Given the description of an element on the screen output the (x, y) to click on. 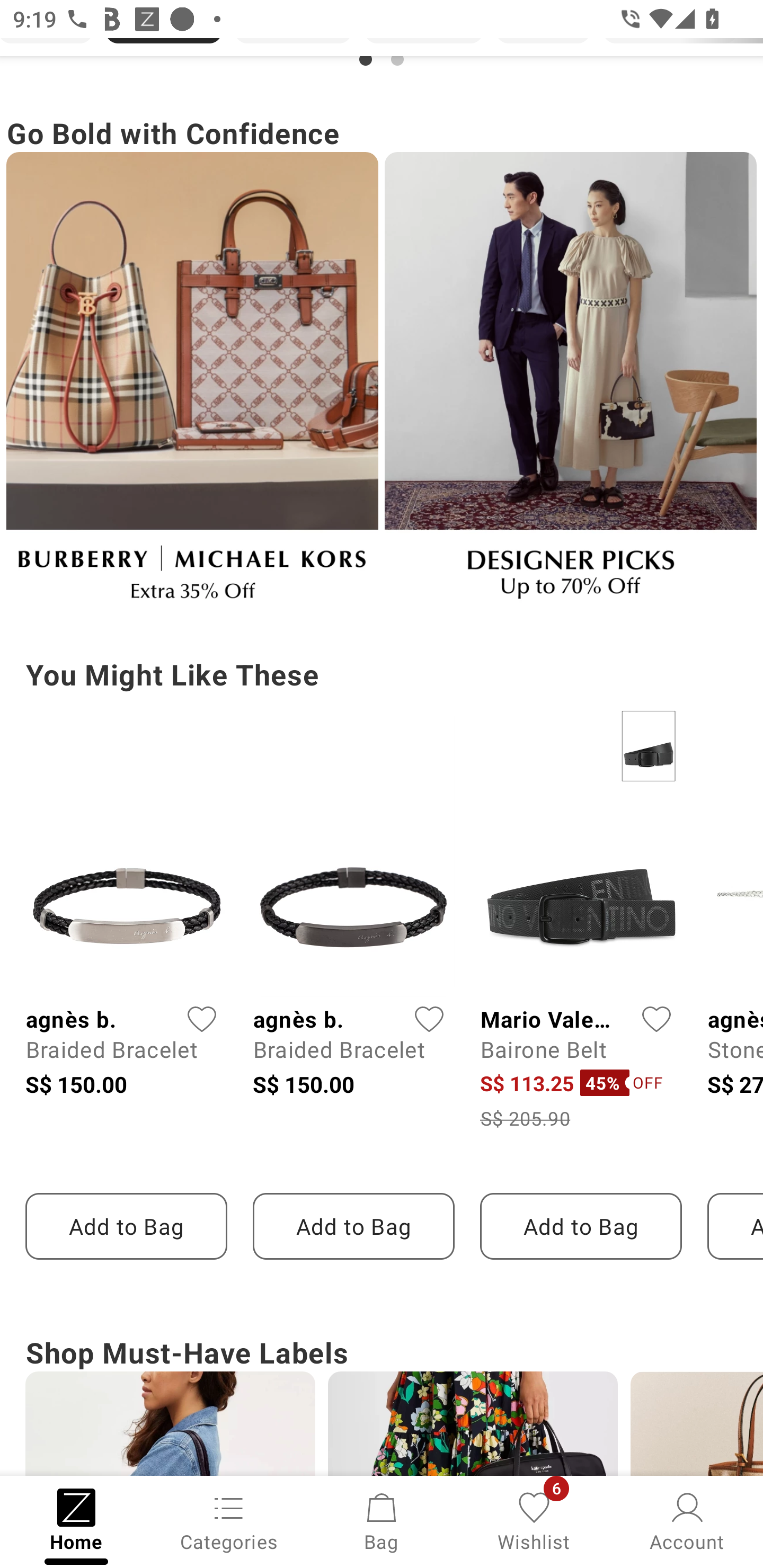
Campaign banner (192, 384)
Campaign banner (570, 384)
Add to Bag (126, 1226)
Add to Bag (353, 1226)
Add to Bag (580, 1226)
Categories (228, 1519)
Bag (381, 1519)
Wishlist, 6 new notifications Wishlist (533, 1519)
Account (686, 1519)
